Given the description of an element on the screen output the (x, y) to click on. 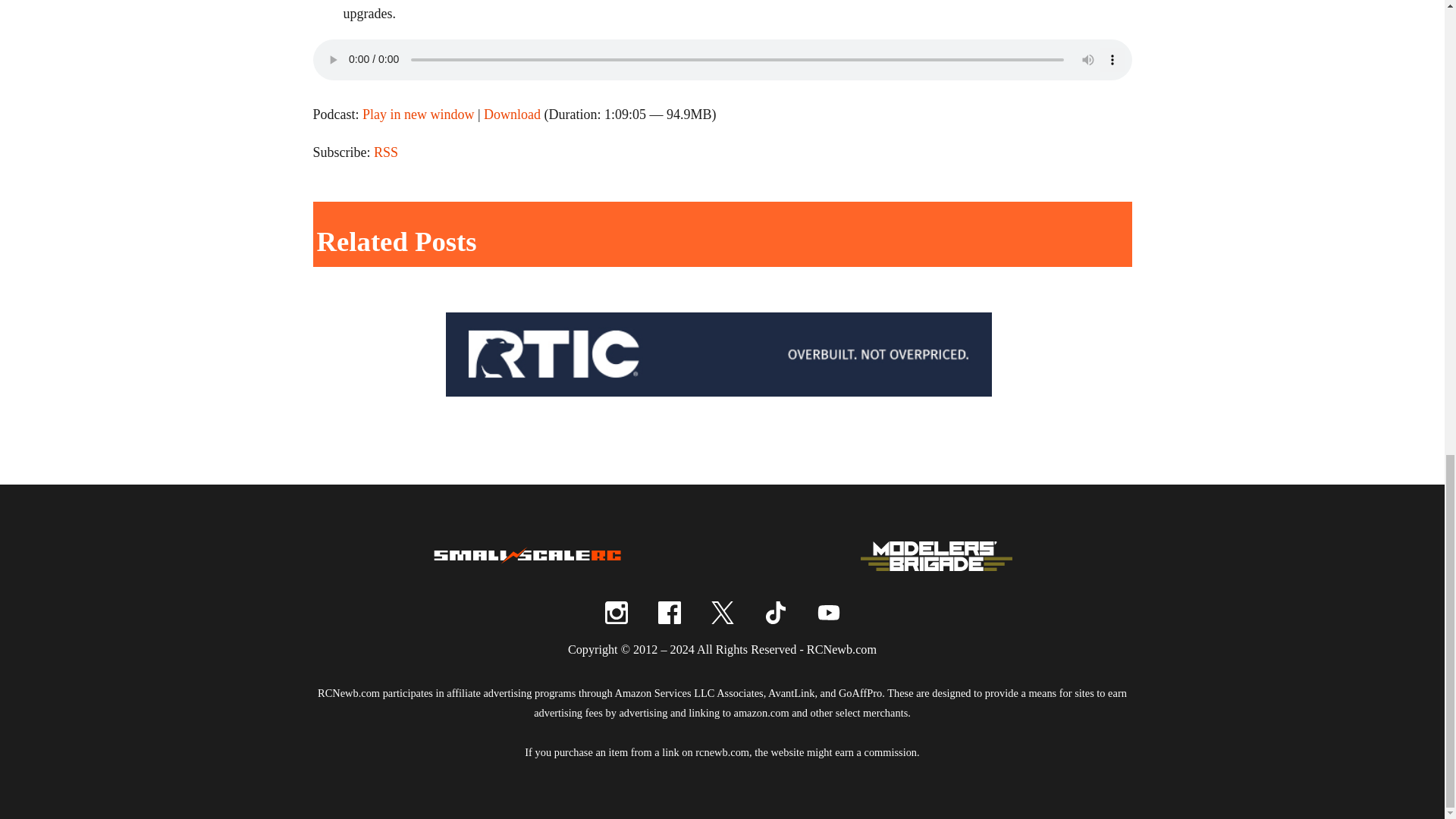
RSS (385, 151)
Download (511, 114)
Subscribe via RSS (385, 151)
Play in new window (418, 114)
Download (511, 114)
Play in new window (418, 114)
